Given the description of an element on the screen output the (x, y) to click on. 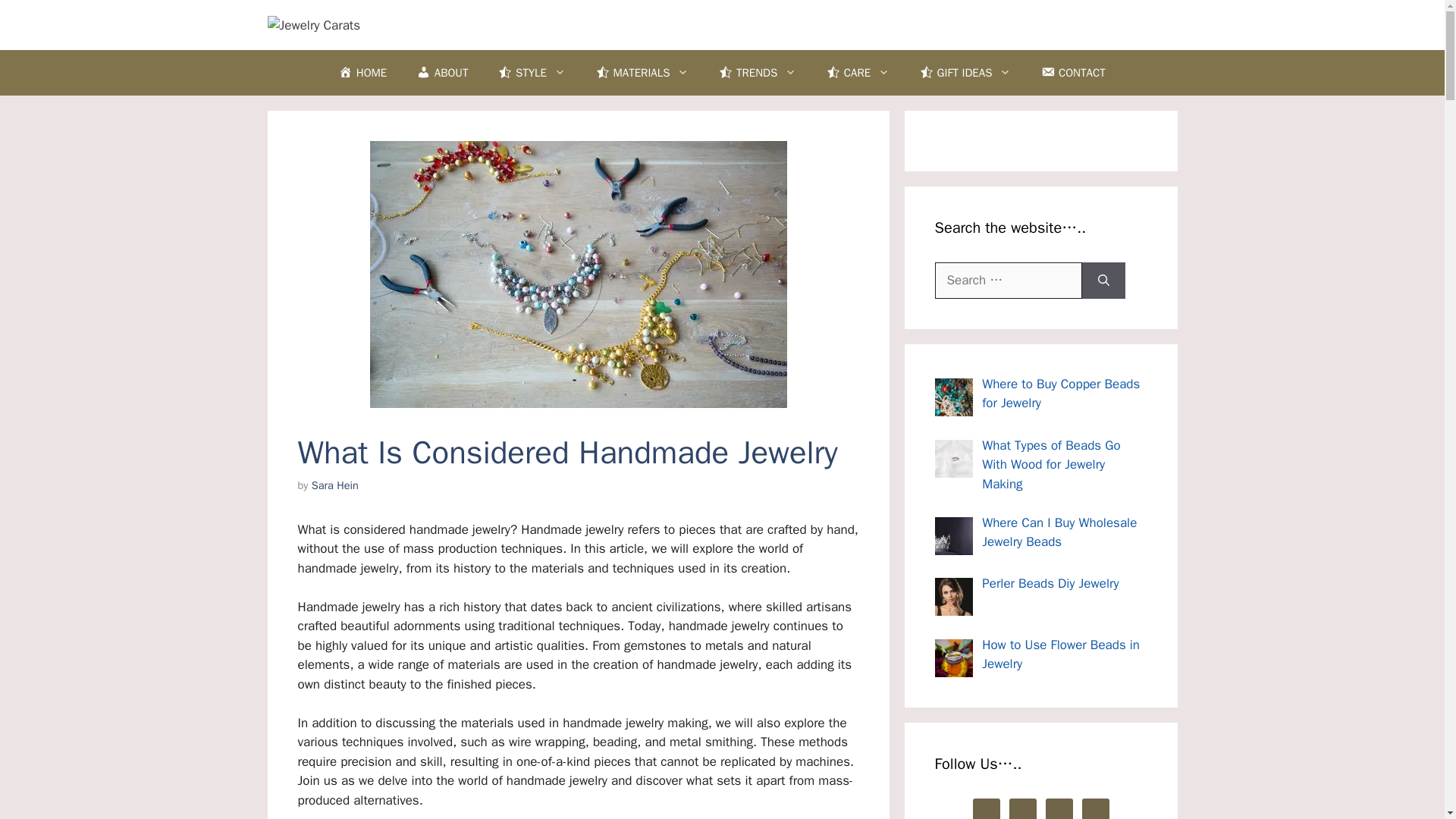
View all posts by Sara Hein (334, 485)
What Is Considered Handmade Jewelry 1 (578, 273)
